Given the description of an element on the screen output the (x, y) to click on. 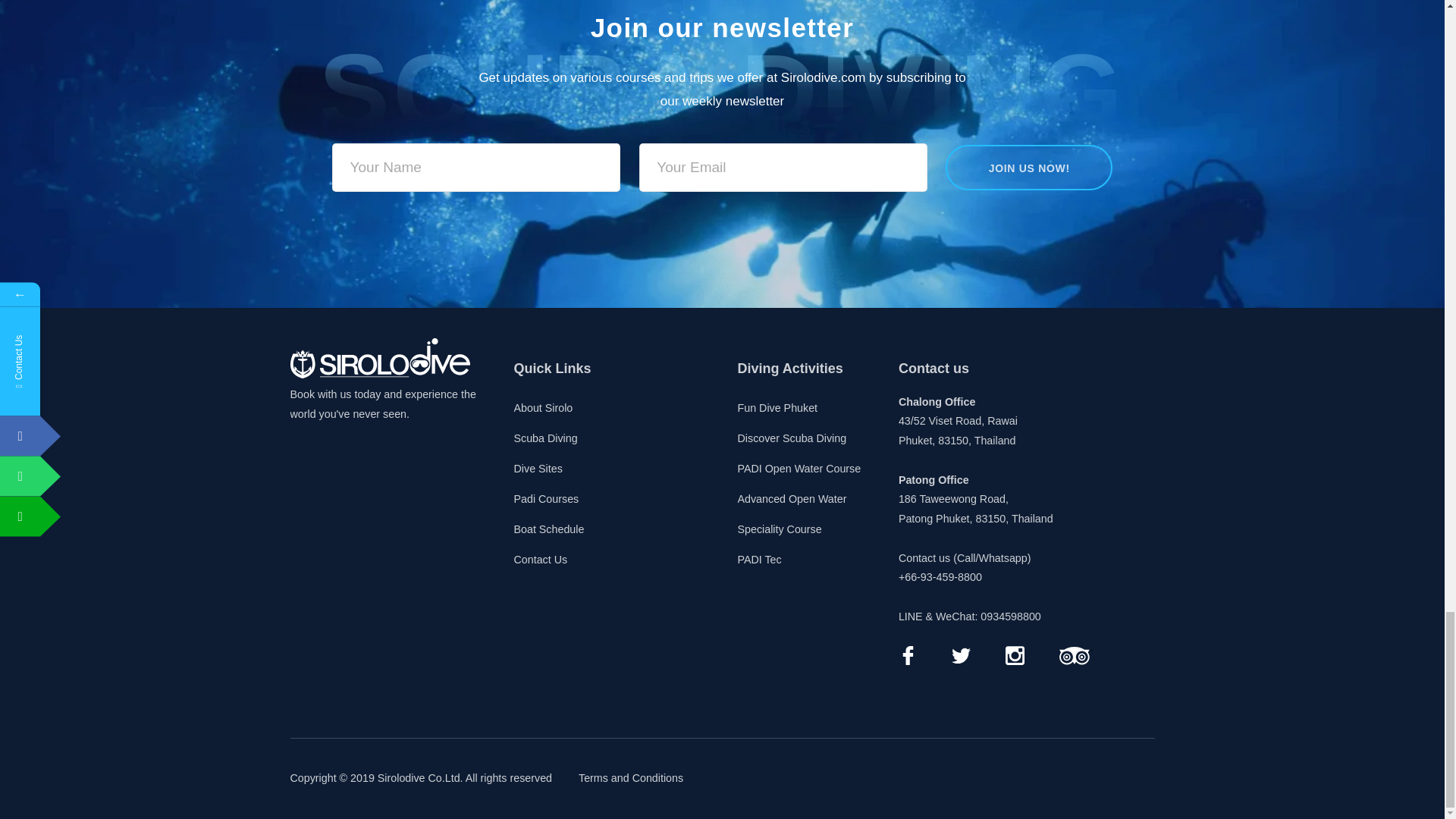
join us now! (1028, 167)
